Given the description of an element on the screen output the (x, y) to click on. 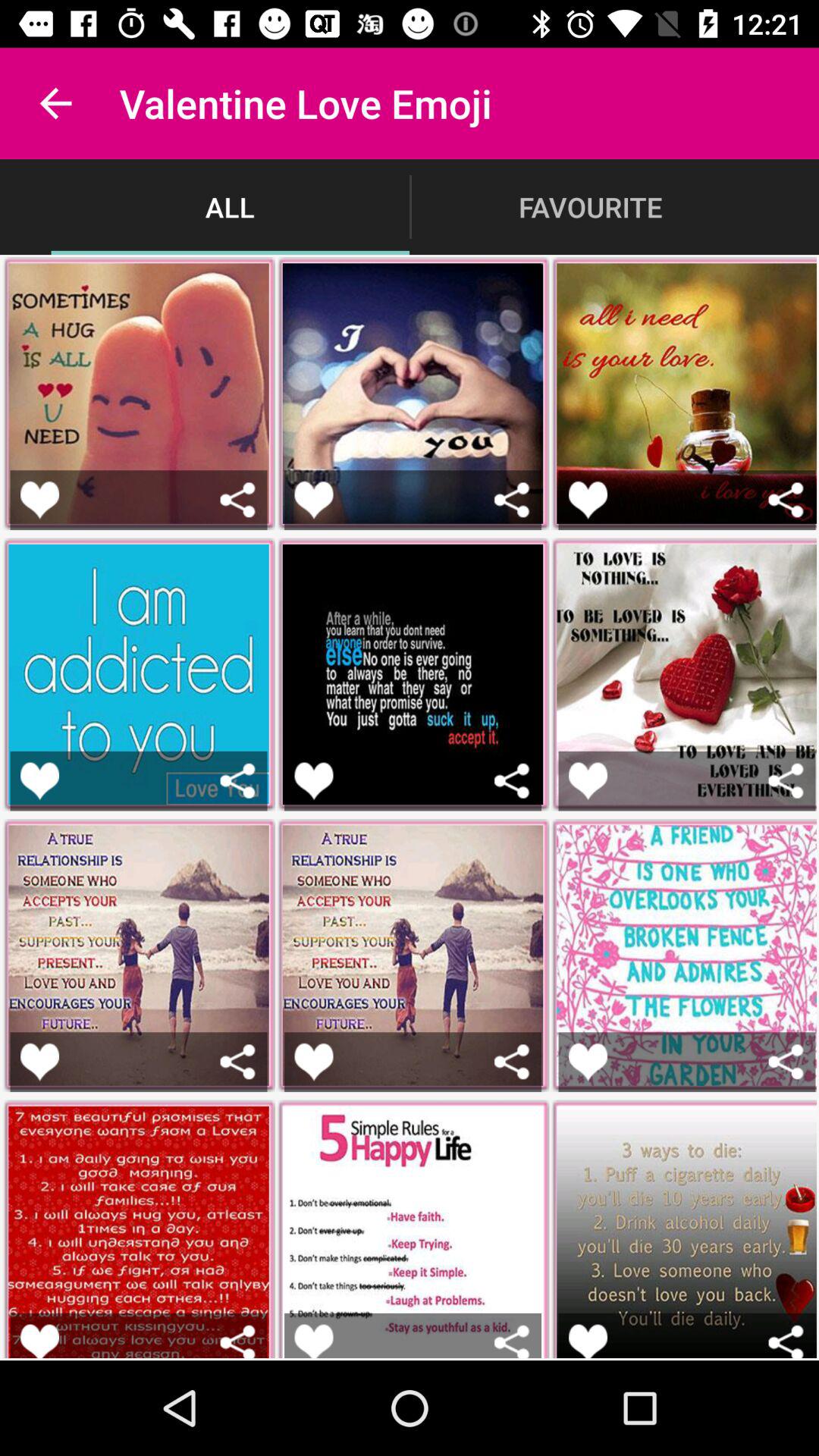
share the picture (237, 780)
